Given the description of an element on the screen output the (x, y) to click on. 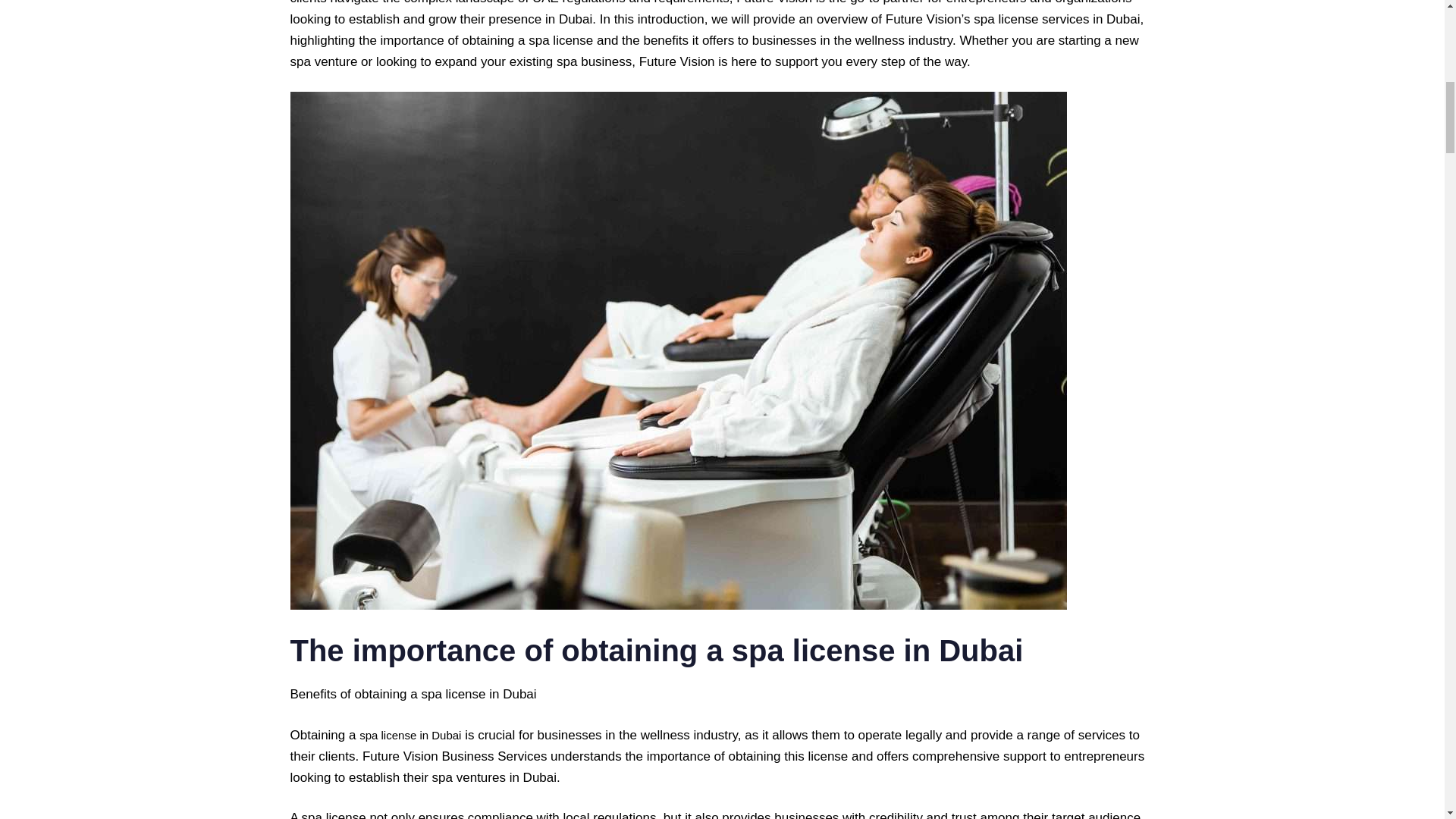
spa license in Dubai (410, 735)
